Given the description of an element on the screen output the (x, y) to click on. 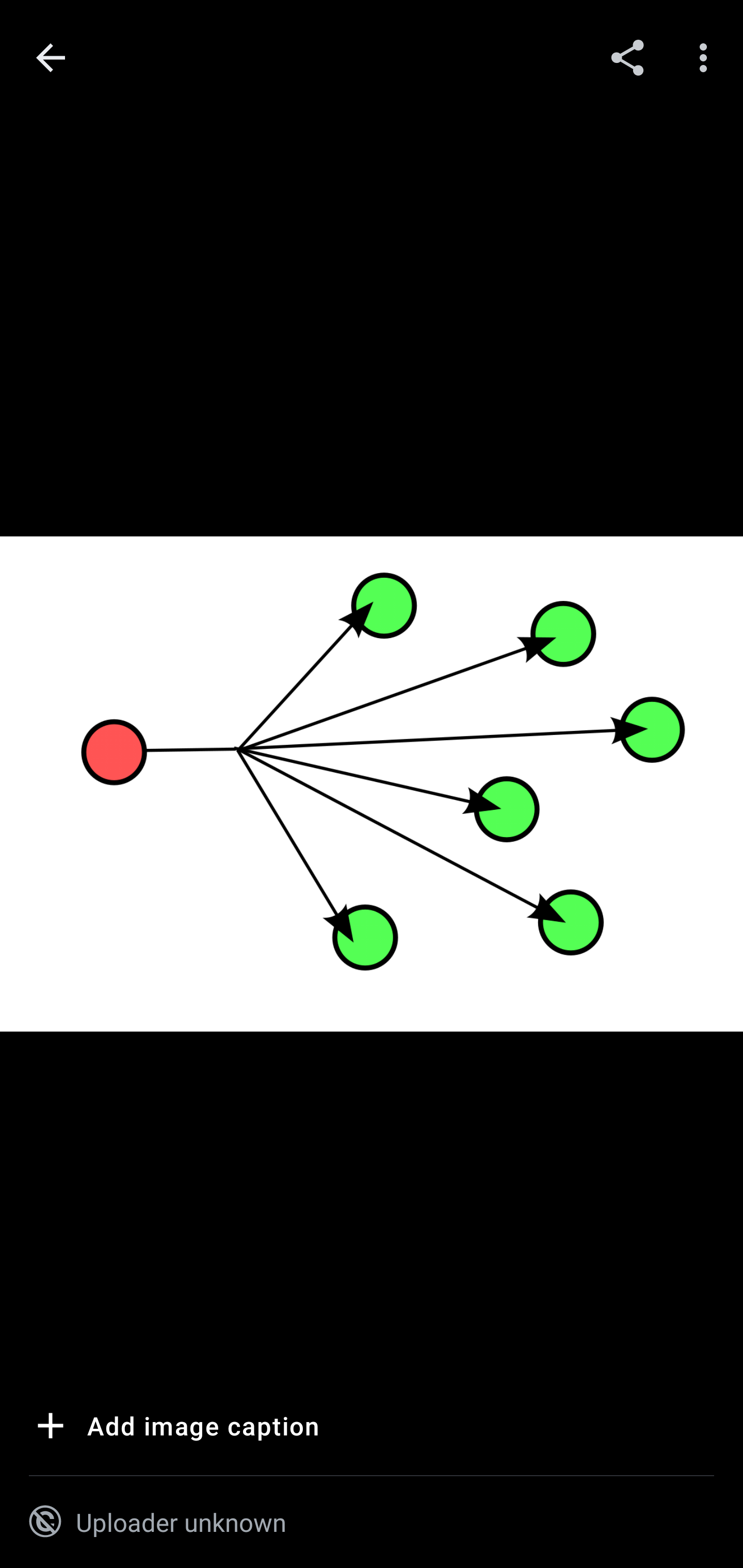
Navigate up (50, 57)
Share (626, 57)
More options (706, 57)
Add image caption (174, 1428)
Public domain (44, 1521)
